Given the description of an element on the screen output the (x, y) to click on. 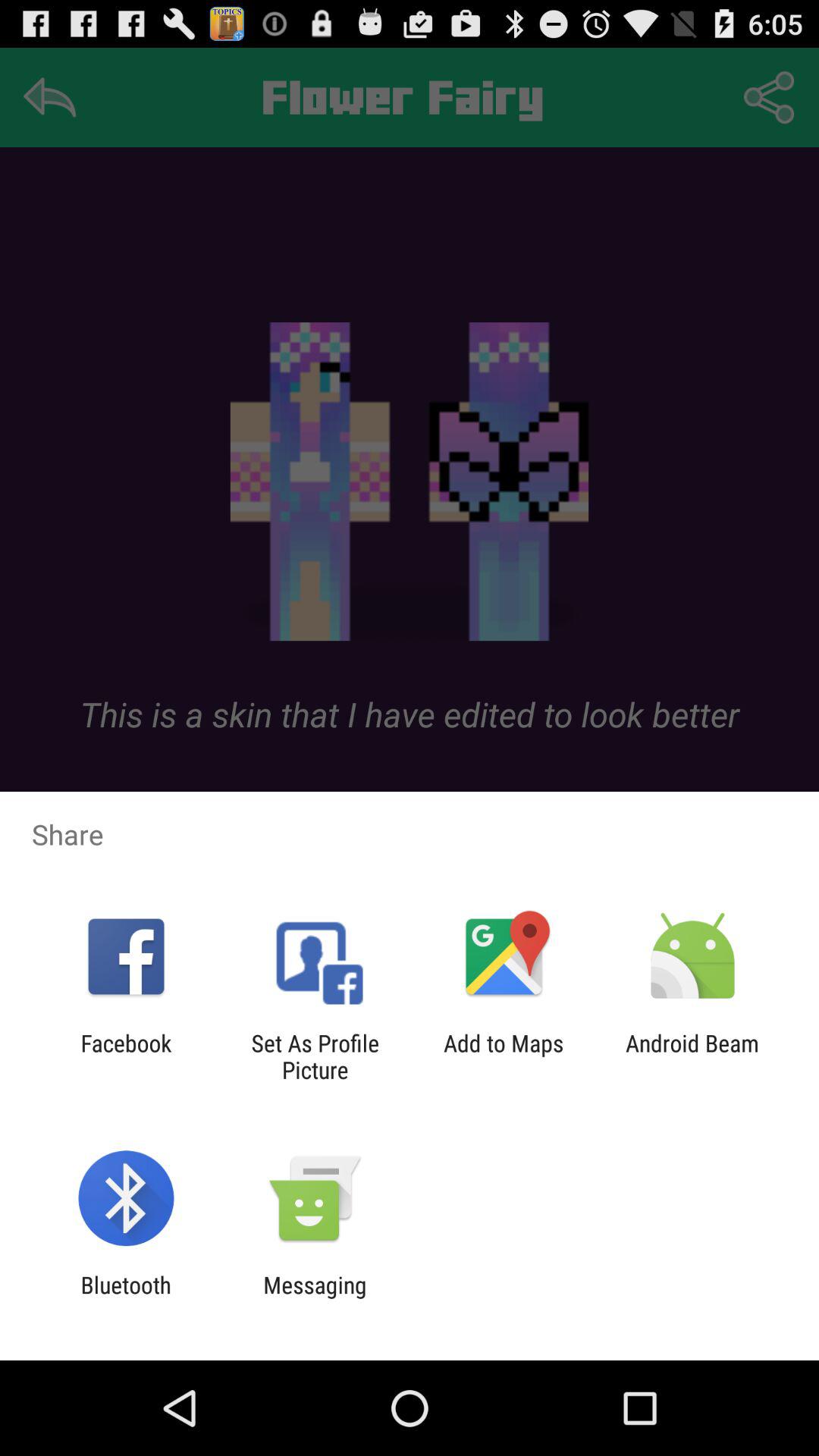
jump until set as profile icon (314, 1056)
